Given the description of an element on the screen output the (x, y) to click on. 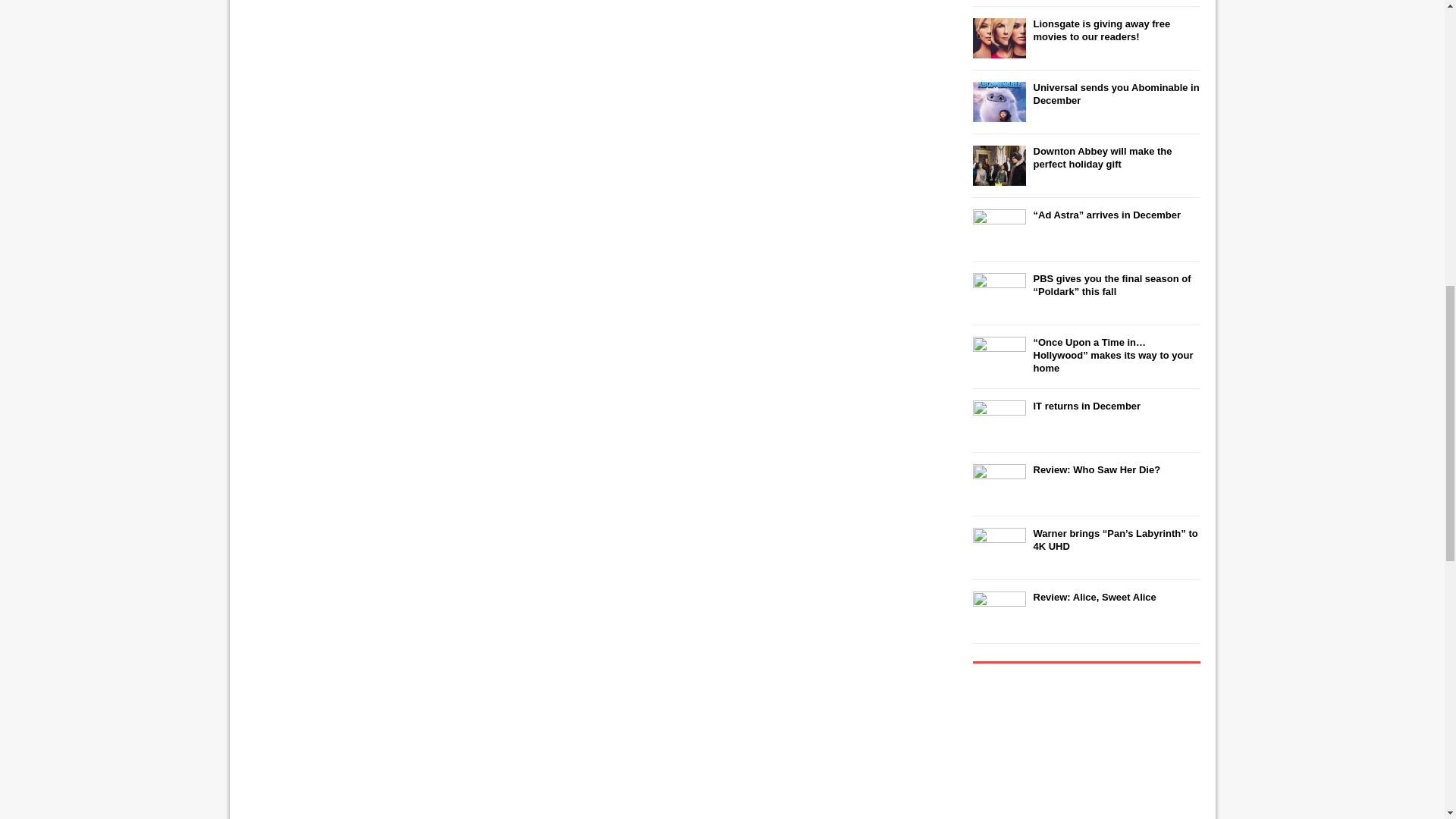
Downton Abbey will make the perfect holiday gift (1102, 157)
Lionsgate is giving away free movies to our readers! (1101, 30)
Universal sends you Abominable in December (1115, 93)
